Given the description of an element on the screen output the (x, y) to click on. 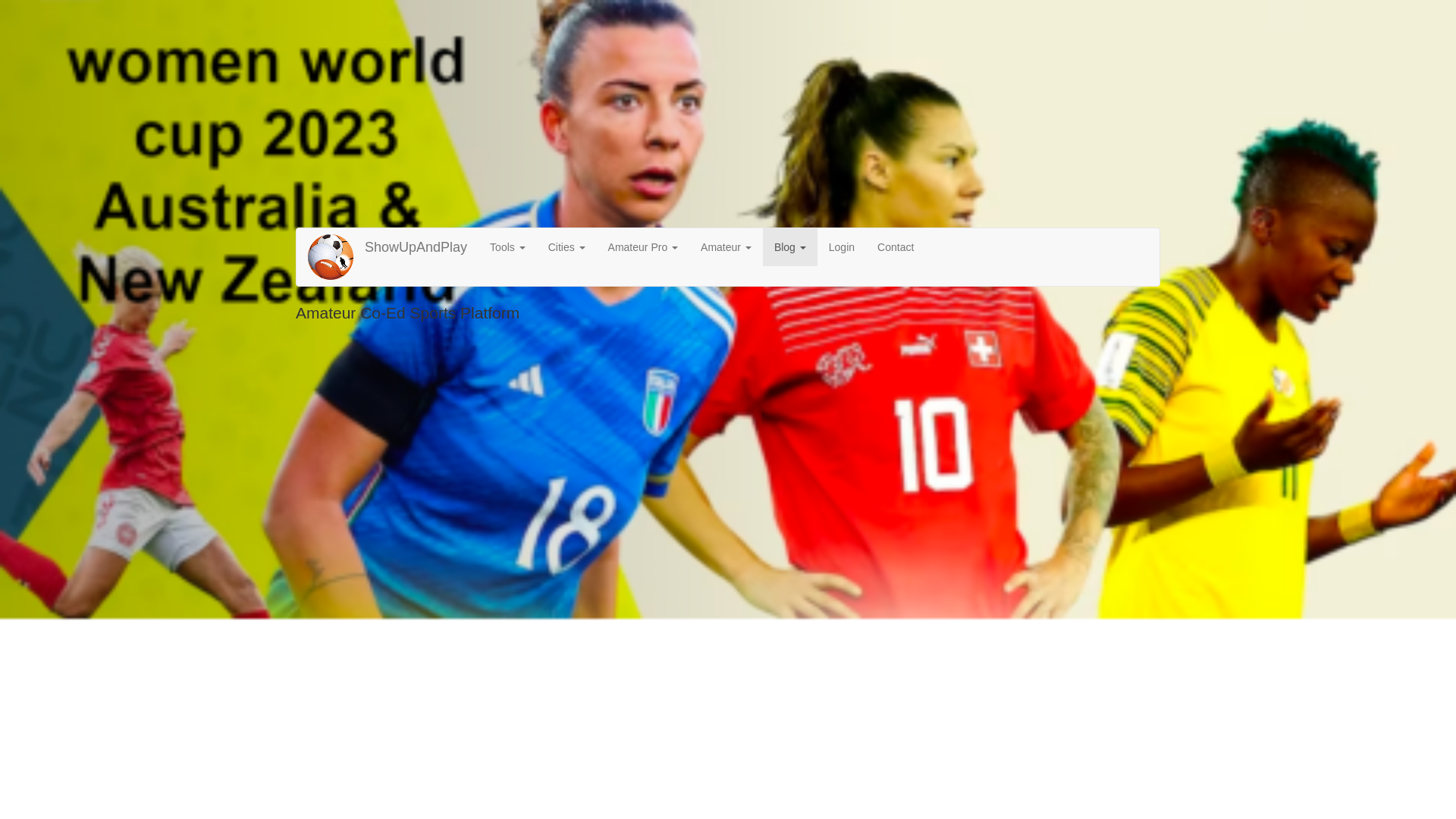
Tools (508, 247)
Home (336, 257)
About ShowUpAndPlay (508, 247)
Cities (566, 247)
Home (416, 247)
ShowUpAndPlay (416, 247)
